Given the description of an element on the screen output the (x, y) to click on. 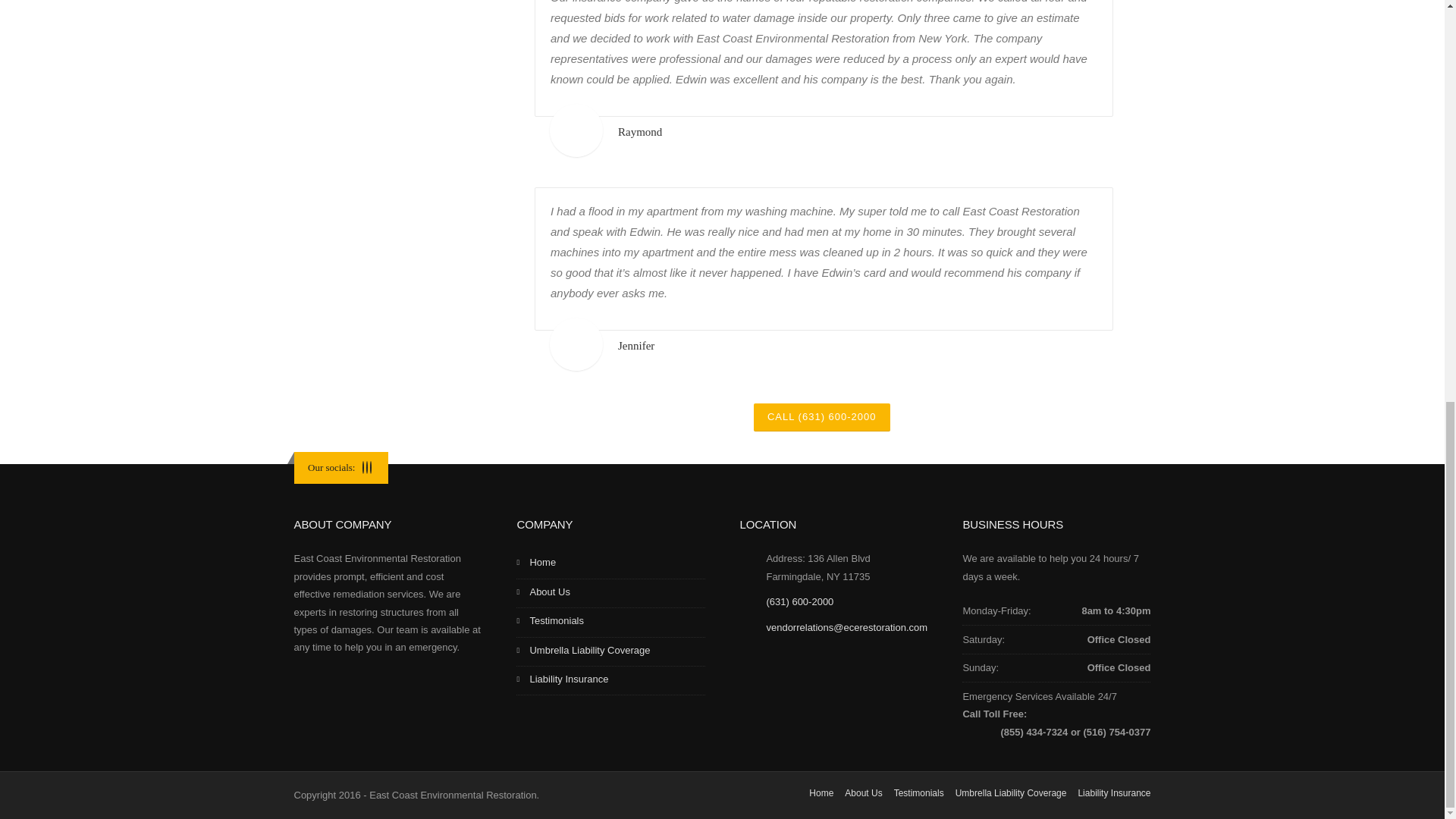
About Us (863, 792)
Liability Insurance (610, 680)
Umbrella Liability Coverage (610, 652)
Testimonials (610, 622)
About Us (610, 593)
Testimonials (918, 792)
Home (820, 792)
Home (610, 563)
Umbrella Liability Coverage (1011, 792)
